Given the description of an element on the screen output the (x, y) to click on. 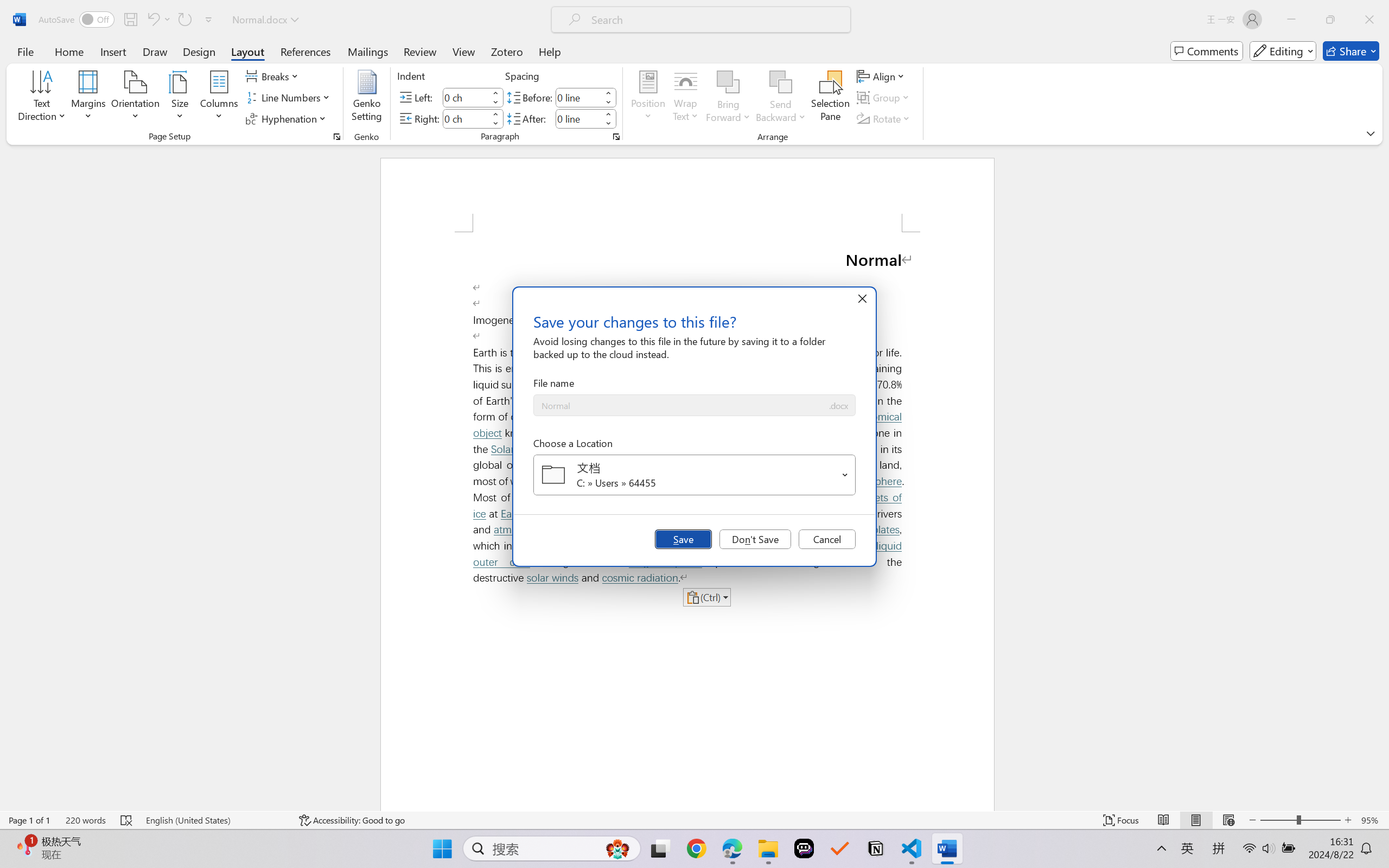
Bring Forward (728, 81)
Indent Left (465, 96)
Group (884, 97)
Line Numbers (289, 97)
Breaks (273, 75)
Page Setup... (336, 136)
Zoom 95% (1372, 819)
